Given the description of an element on the screen output the (x, y) to click on. 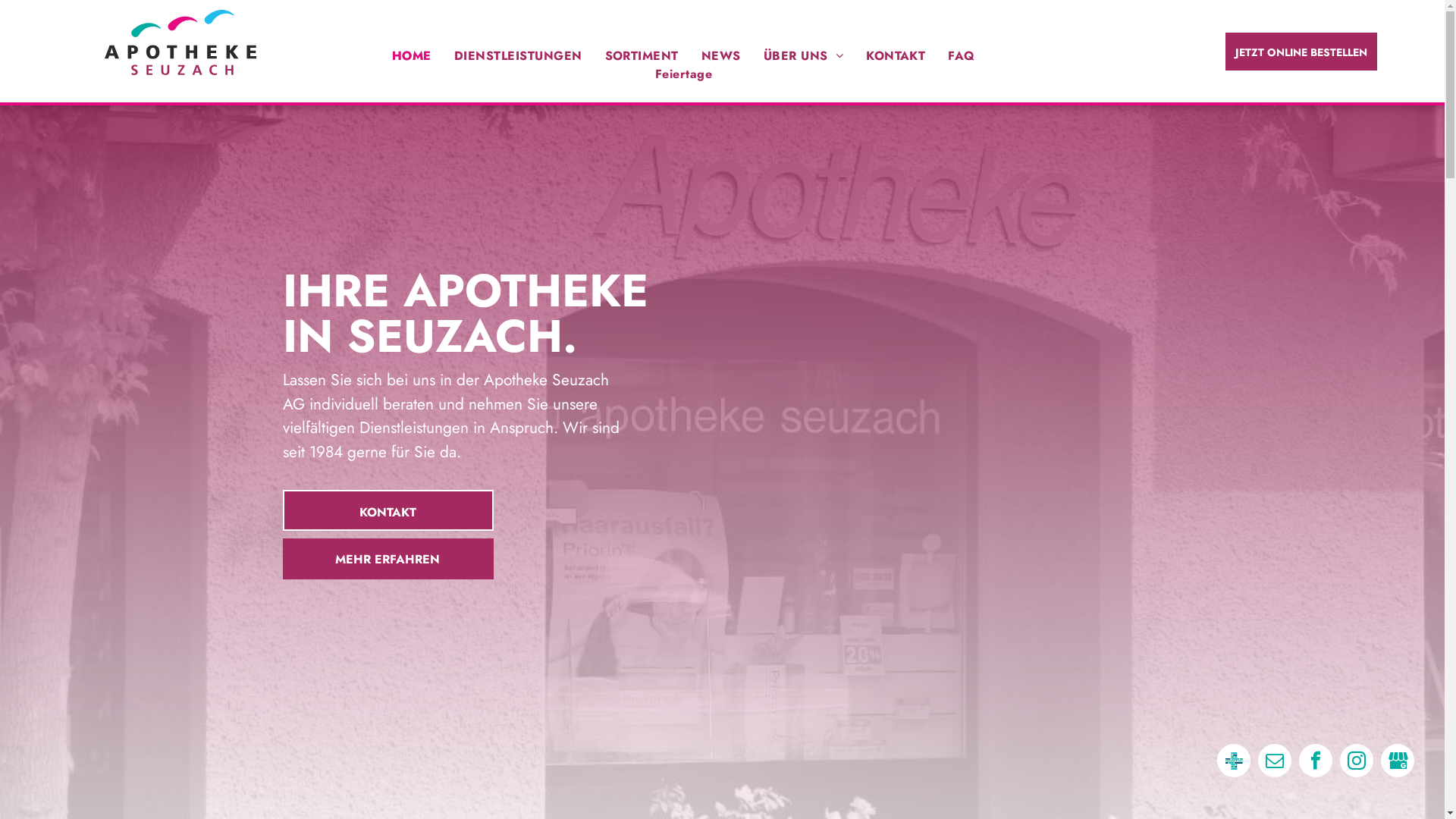
SORTIMENT Element type: text (641, 56)
JETZT ONLINE BESTELLEN Element type: text (1301, 51)
FAQ Element type: text (960, 56)
KONTAKT Element type: text (895, 56)
NEWS Element type: text (721, 56)
Feiertage Element type: text (683, 74)
MEHR ERFAHREN Element type: text (387, 558)
HOME Element type: text (411, 56)
KONTAKT Element type: text (387, 509)
DIENSTLEISTUNGEN Element type: text (517, 56)
